Given the description of an element on the screen output the (x, y) to click on. 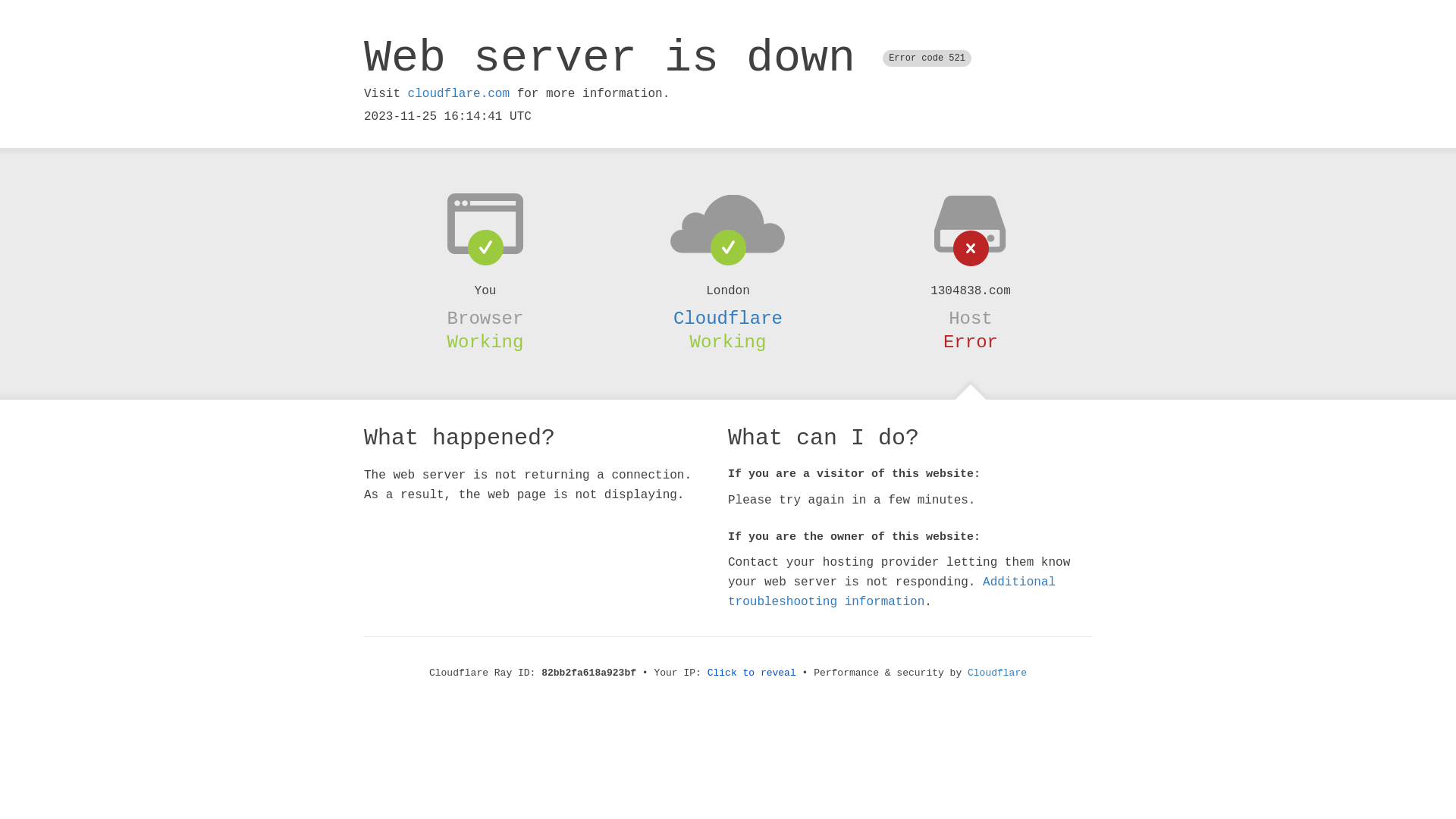
Cloudflare Element type: text (996, 672)
cloudflare.com Element type: text (458, 93)
Click to reveal Element type: text (751, 672)
Cloudflare Element type: text (727, 318)
Additional troubleshooting information Element type: text (891, 591)
